Given the description of an element on the screen output the (x, y) to click on. 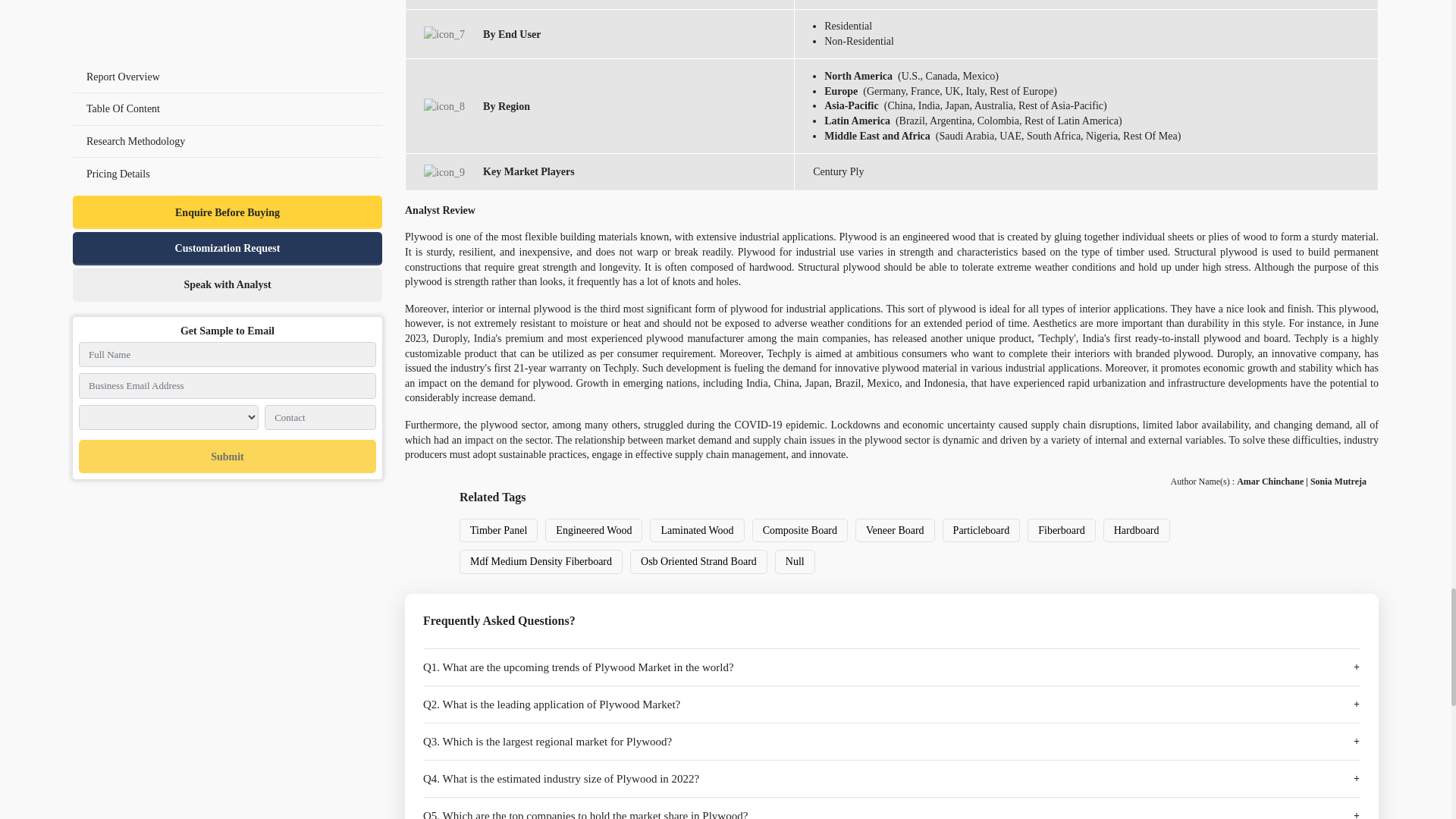
Plywood Market By End User (443, 34)
Timber Panel (498, 529)
Engineered Wood (593, 529)
Key Market Players (443, 172)
Plywood Market By Region (443, 106)
